Given the description of an element on the screen output the (x, y) to click on. 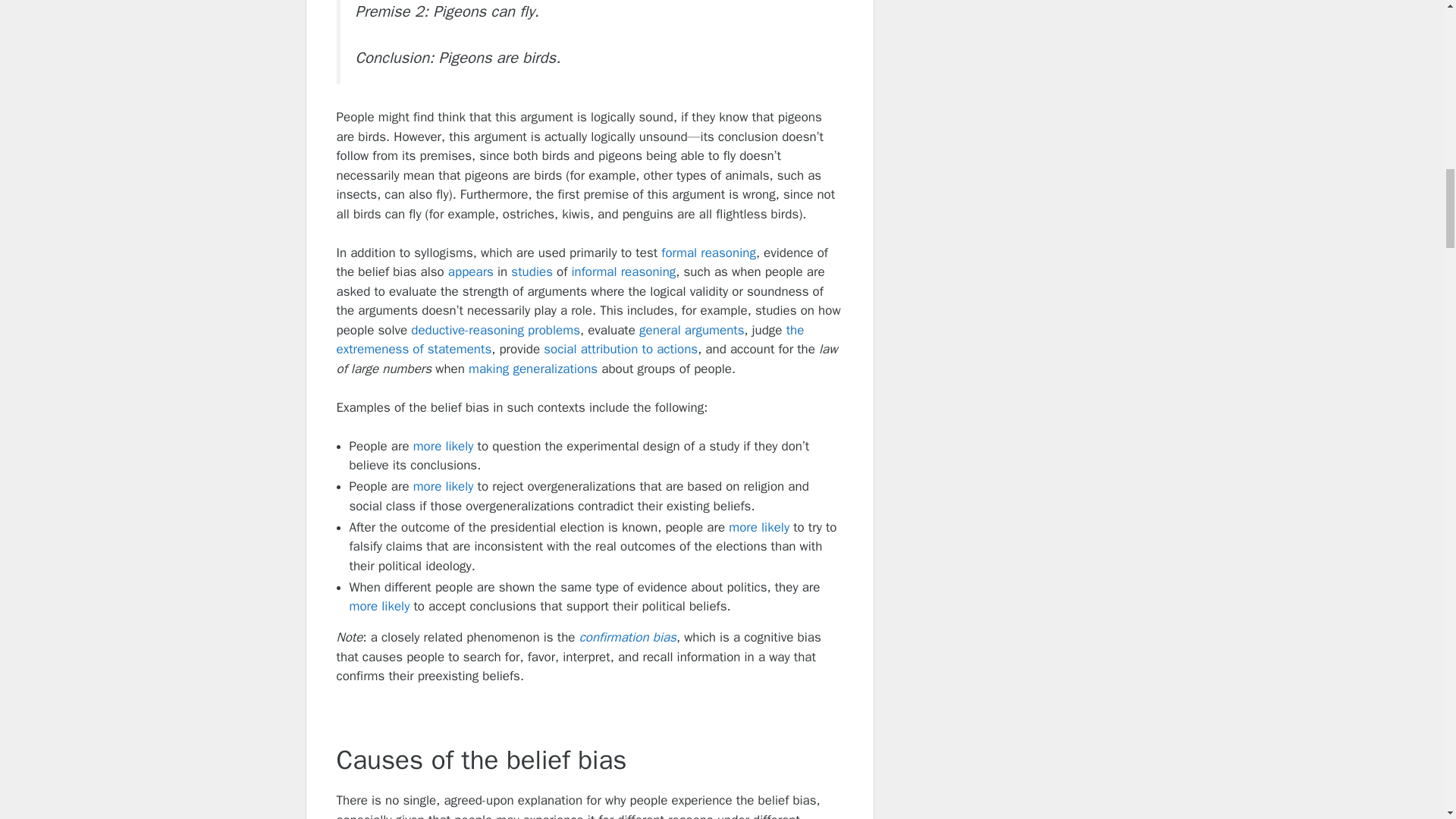
informal reasoning (622, 271)
deductive-reasoning problems (494, 330)
confirmation bias (628, 637)
more likely (759, 527)
more likely (443, 486)
the extremeness of statements (570, 339)
more likely (443, 446)
making generalizations (532, 368)
studies (532, 271)
formal reasoning (708, 252)
